Given the description of an element on the screen output the (x, y) to click on. 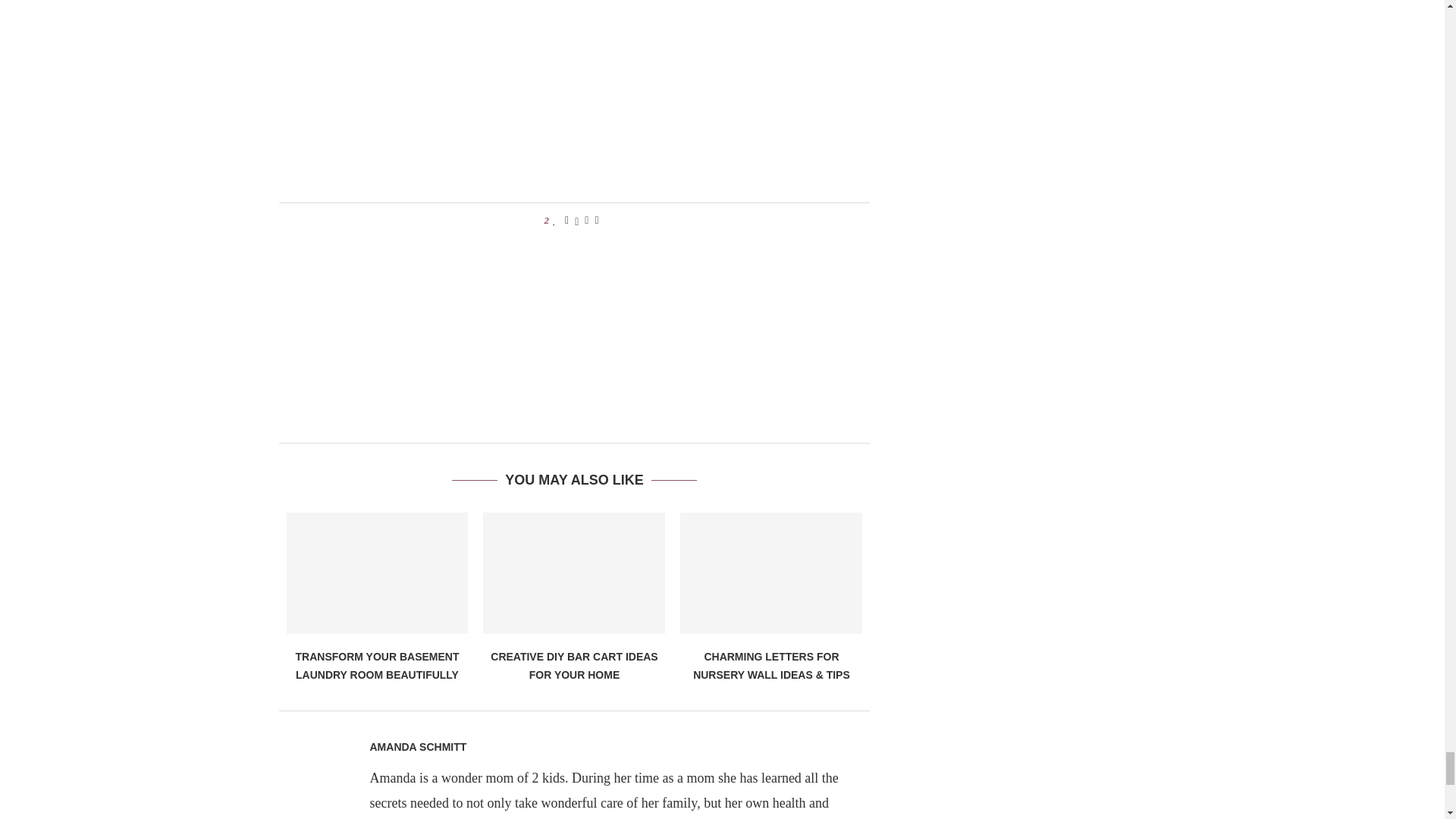
Author Amanda Schmitt (418, 747)
Transform Your Basement Laundry Room Beautifully (377, 572)
Creative DIY Bar Cart Ideas for Your Home (574, 572)
